Given the description of an element on the screen output the (x, y) to click on. 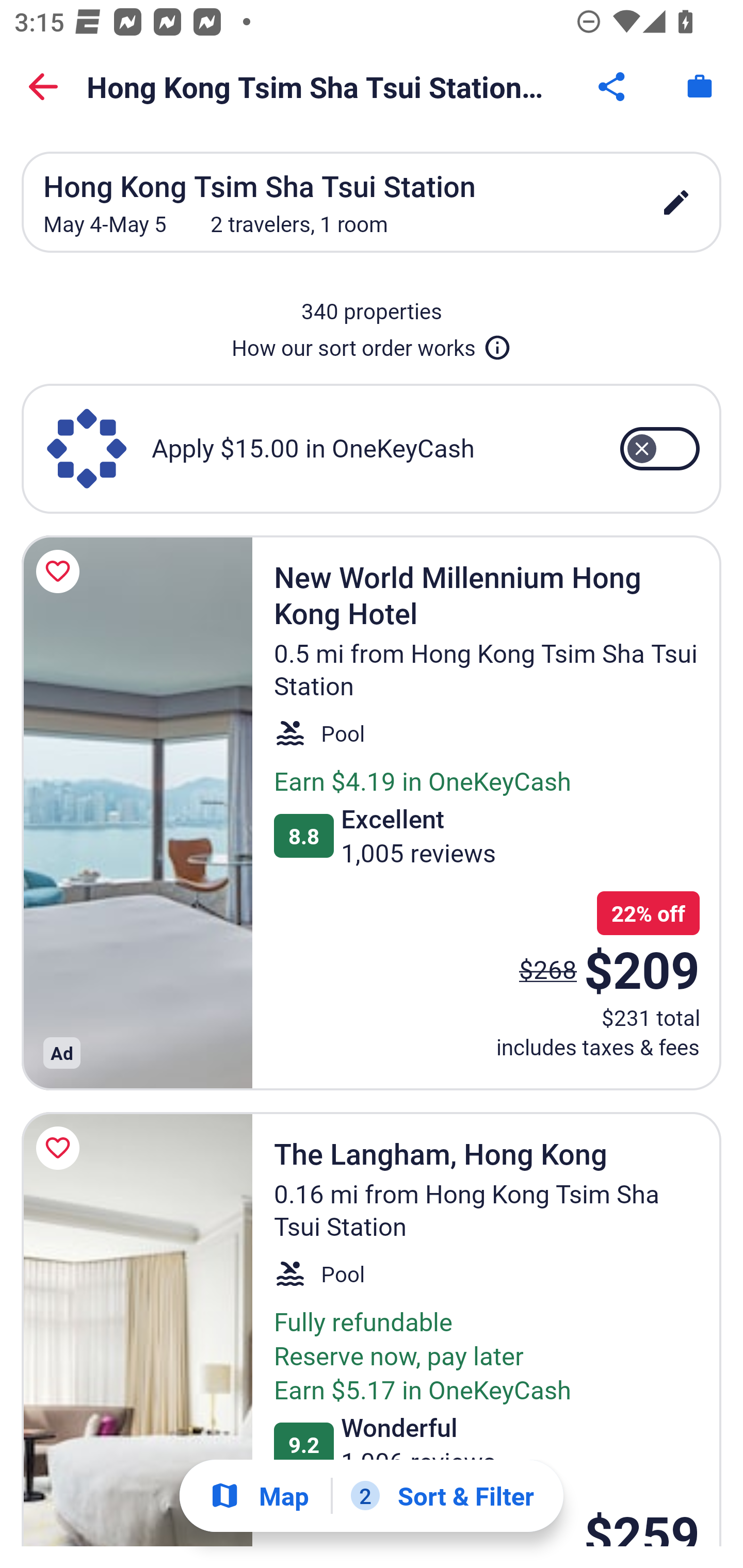
Back (43, 86)
Share Button (612, 86)
Trips. Button (699, 86)
How our sort order works (371, 344)
New World Millennium Hong Kong Hotel (136, 811)
$268 The price was $268 (547, 968)
Save The Langham, Hong Kong to a trip (61, 1148)
The Langham, Hong Kong (136, 1328)
2 Sort & Filter 2 Filters applied. Filters Button (442, 1495)
Show map Map Show map Button (258, 1495)
